Given the description of an element on the screen output the (x, y) to click on. 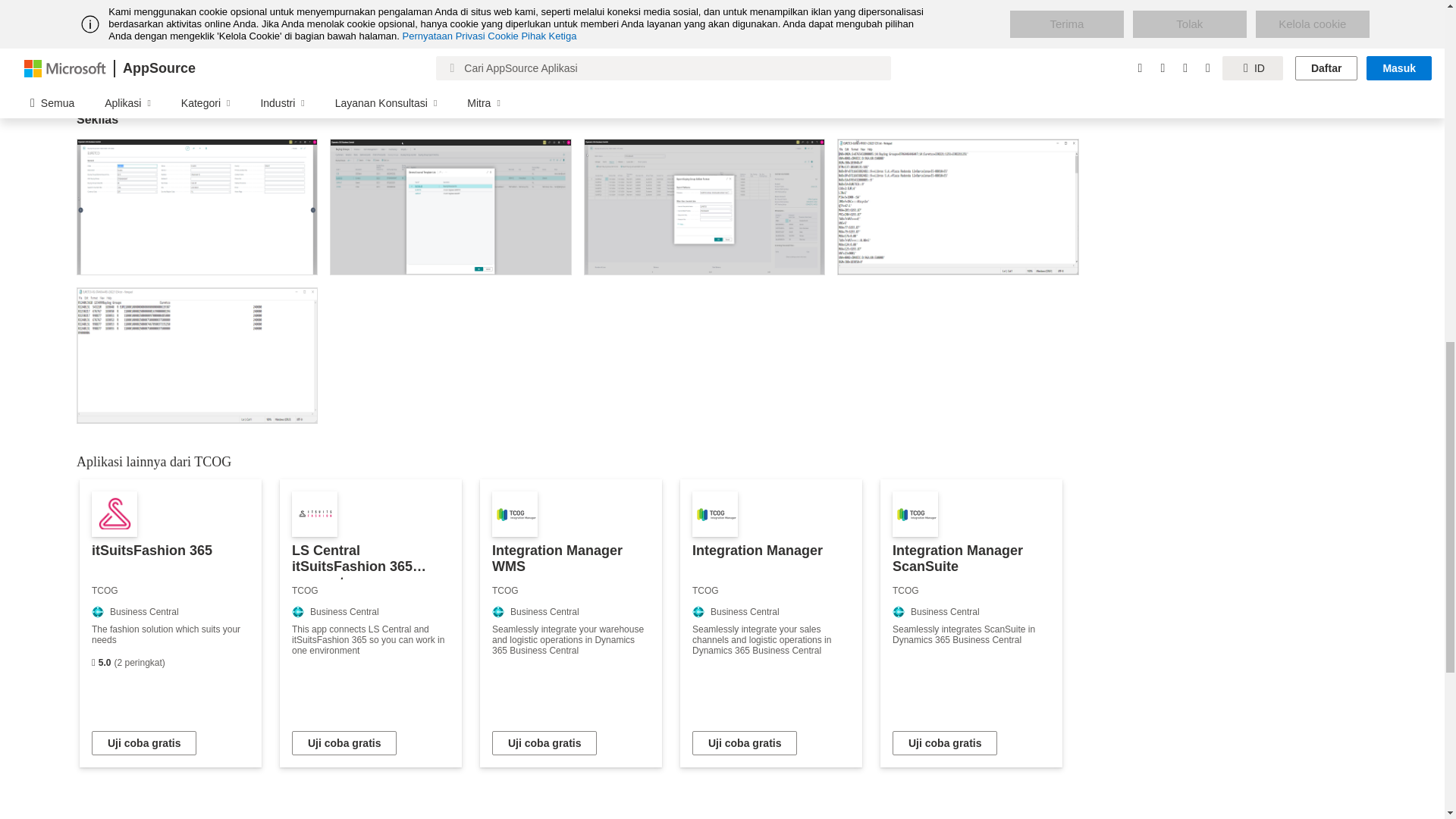
Uji coba gratis (344, 743)
Uji coba gratis (544, 743)
Uji coba gratis (944, 743)
Uji coba gratis (143, 743)
Uji coba gratis (744, 743)
